Given the description of an element on the screen output the (x, y) to click on. 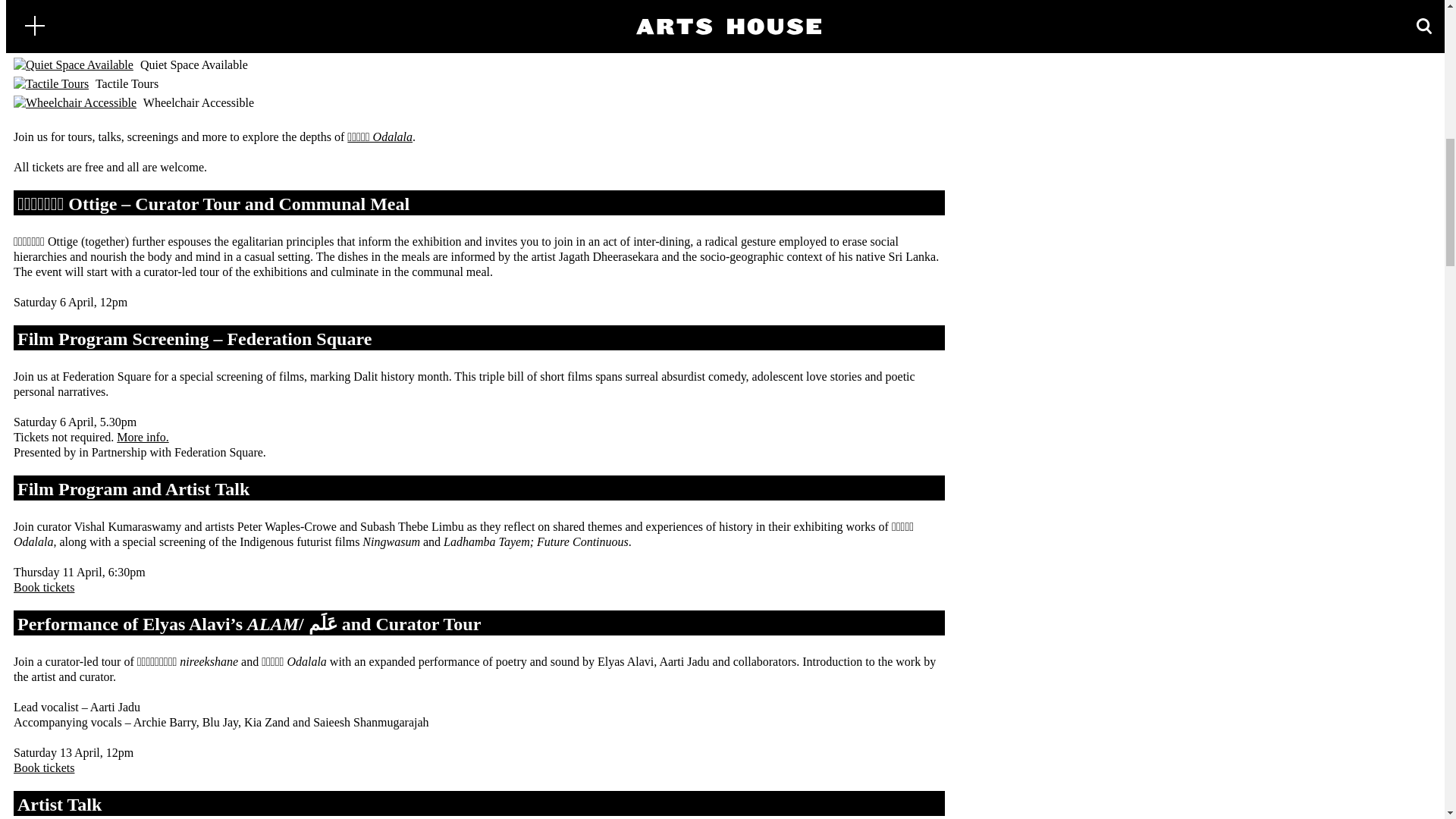
Tactile Tours (50, 83)
Quiet Space Available (73, 64)
Audio description (39, 6)
Auslan Interpreting (66, 27)
Book tickets (43, 767)
More info. (142, 436)
Companion Card (61, 46)
Book tickets (43, 586)
Wheelchair Accessible (74, 102)
